Given the description of an element on the screen output the (x, y) to click on. 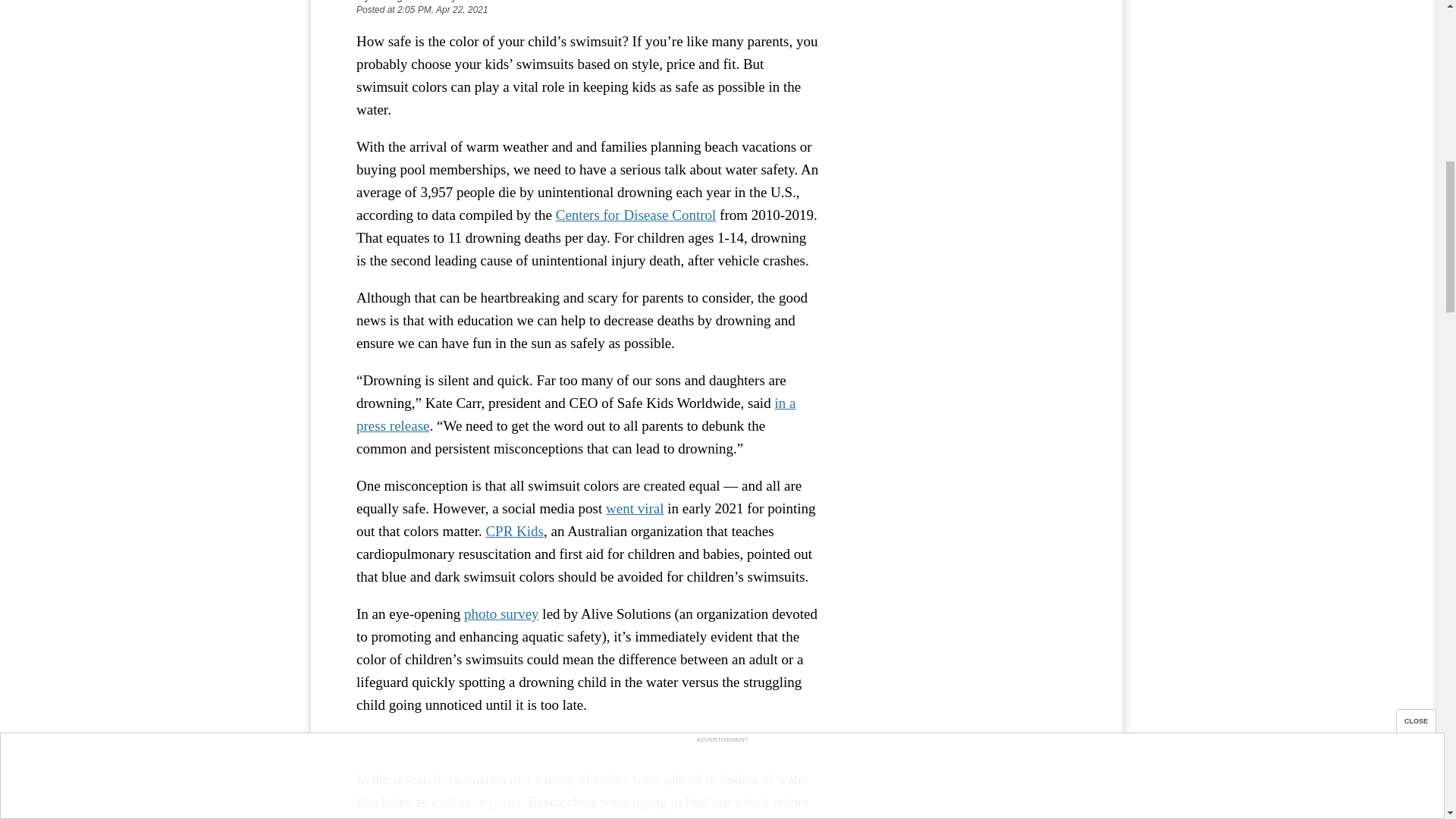
3rd party ad content (962, 87)
